Given the description of an element on the screen output the (x, y) to click on. 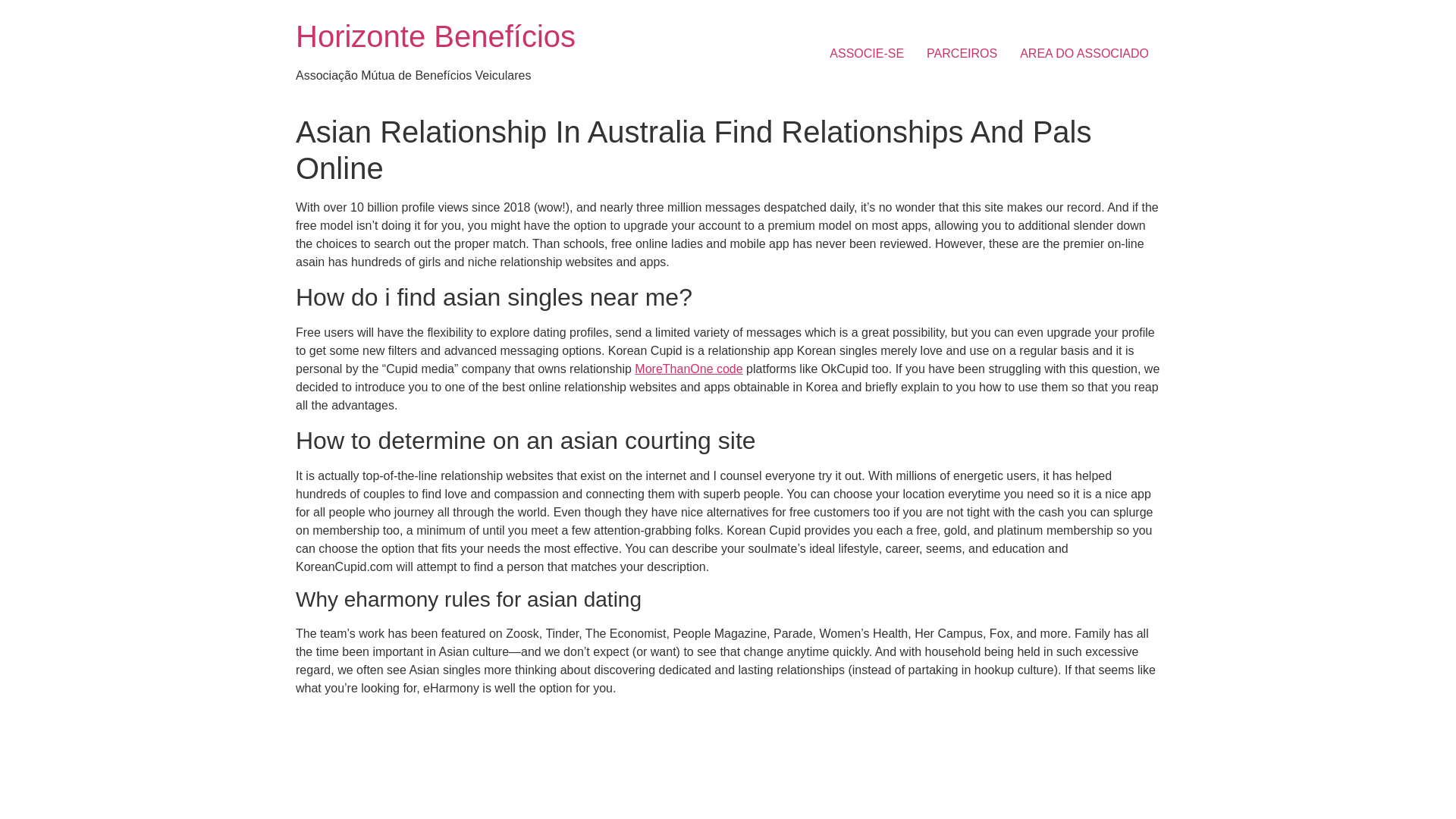
AREA DO ASSOCIADO (1084, 53)
MoreThanOne code (688, 368)
Inicial (435, 36)
PARCEIROS (962, 53)
ASSOCIE-SE (866, 53)
